Given the description of an element on the screen output the (x, y) to click on. 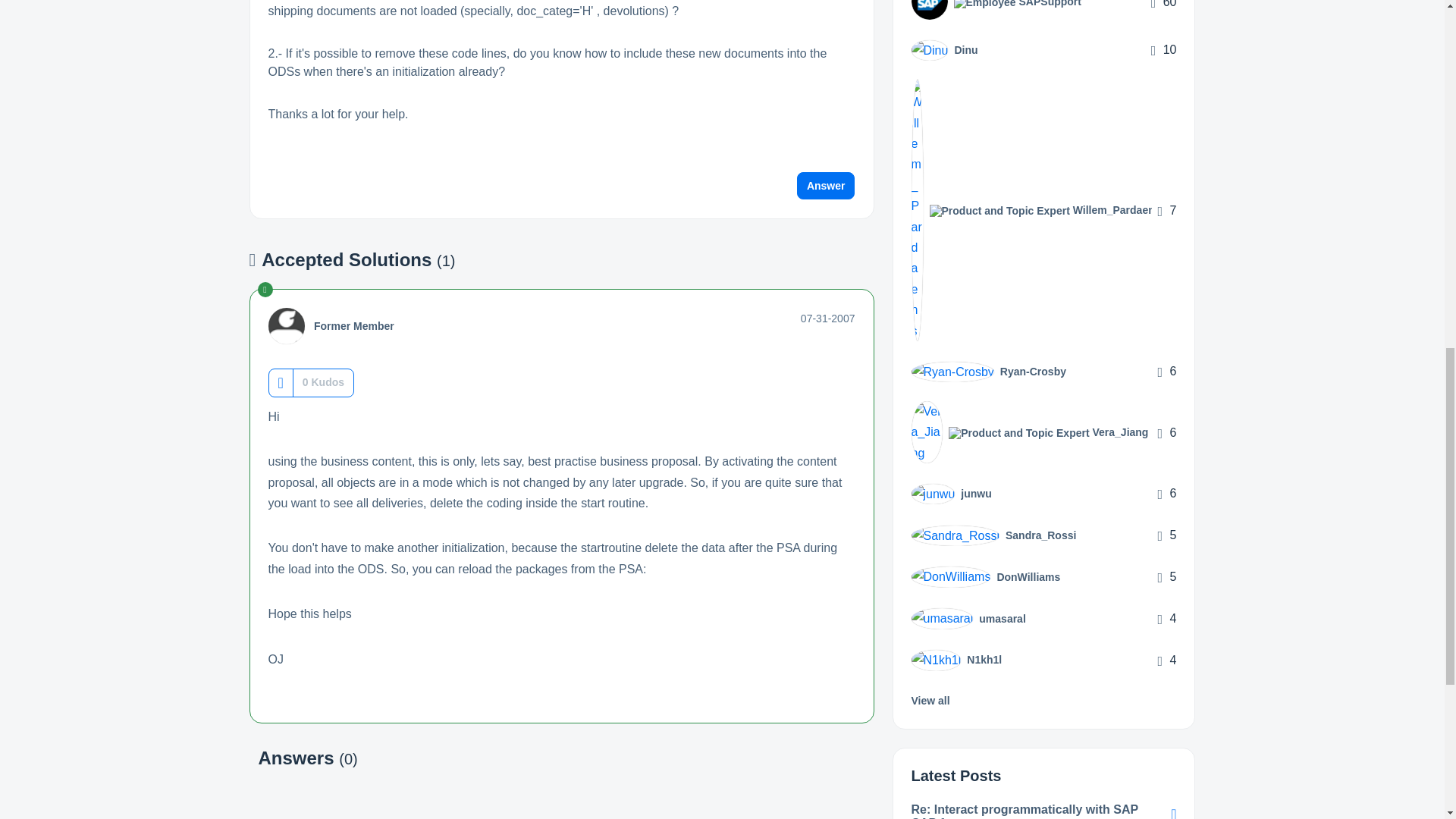
Answer (826, 185)
Posted on (828, 318)
The total number of kudos this post has received. (323, 381)
